Given the description of an element on the screen output the (x, y) to click on. 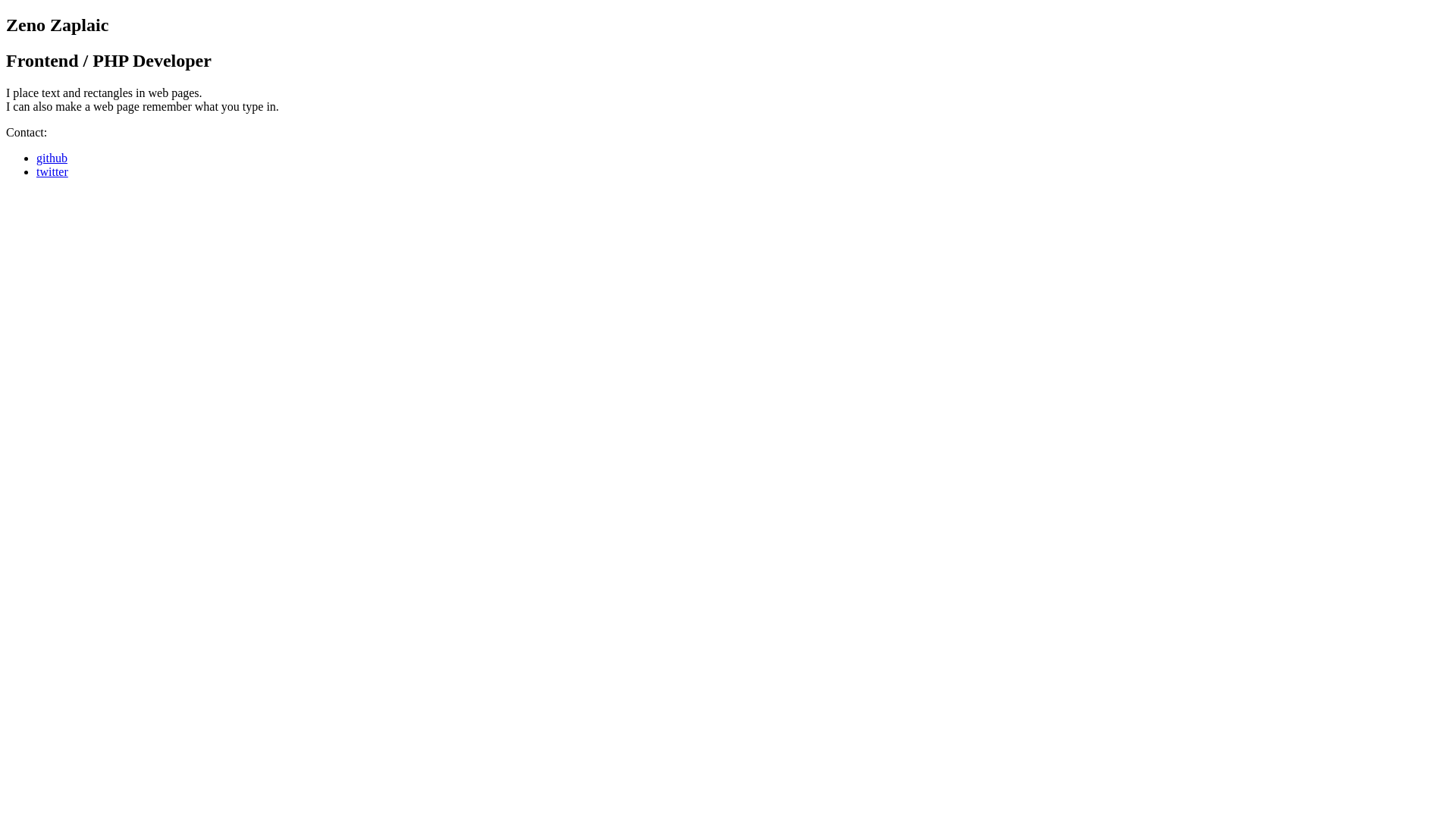
github Element type: text (51, 157)
twitter Element type: text (52, 171)
